Given the description of an element on the screen output the (x, y) to click on. 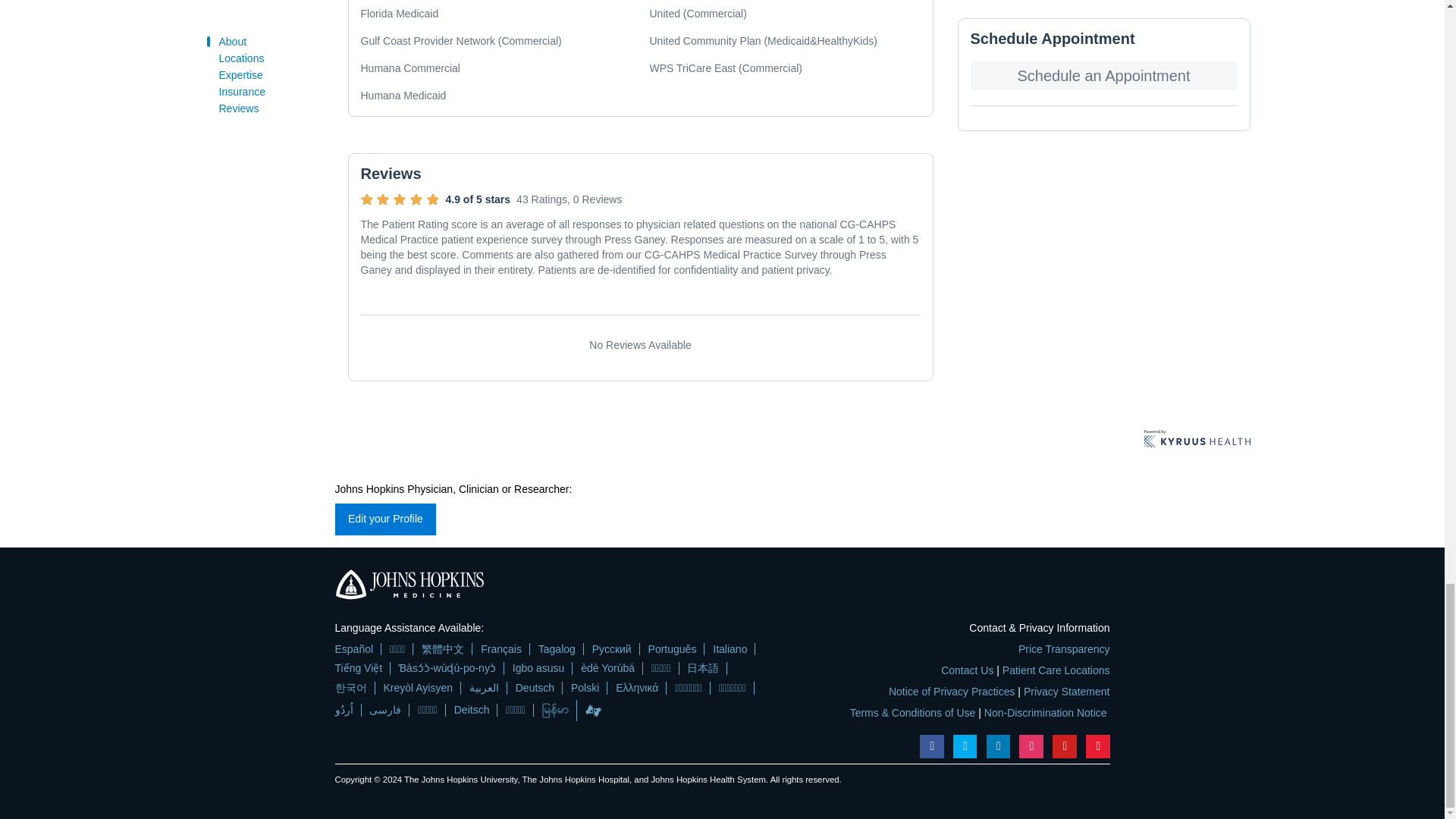
Deutsch (534, 687)
Edit your Profile (385, 519)
Igbo asusu (538, 667)
Italiano (729, 649)
Tagalog (556, 649)
